Given the description of an element on the screen output the (x, y) to click on. 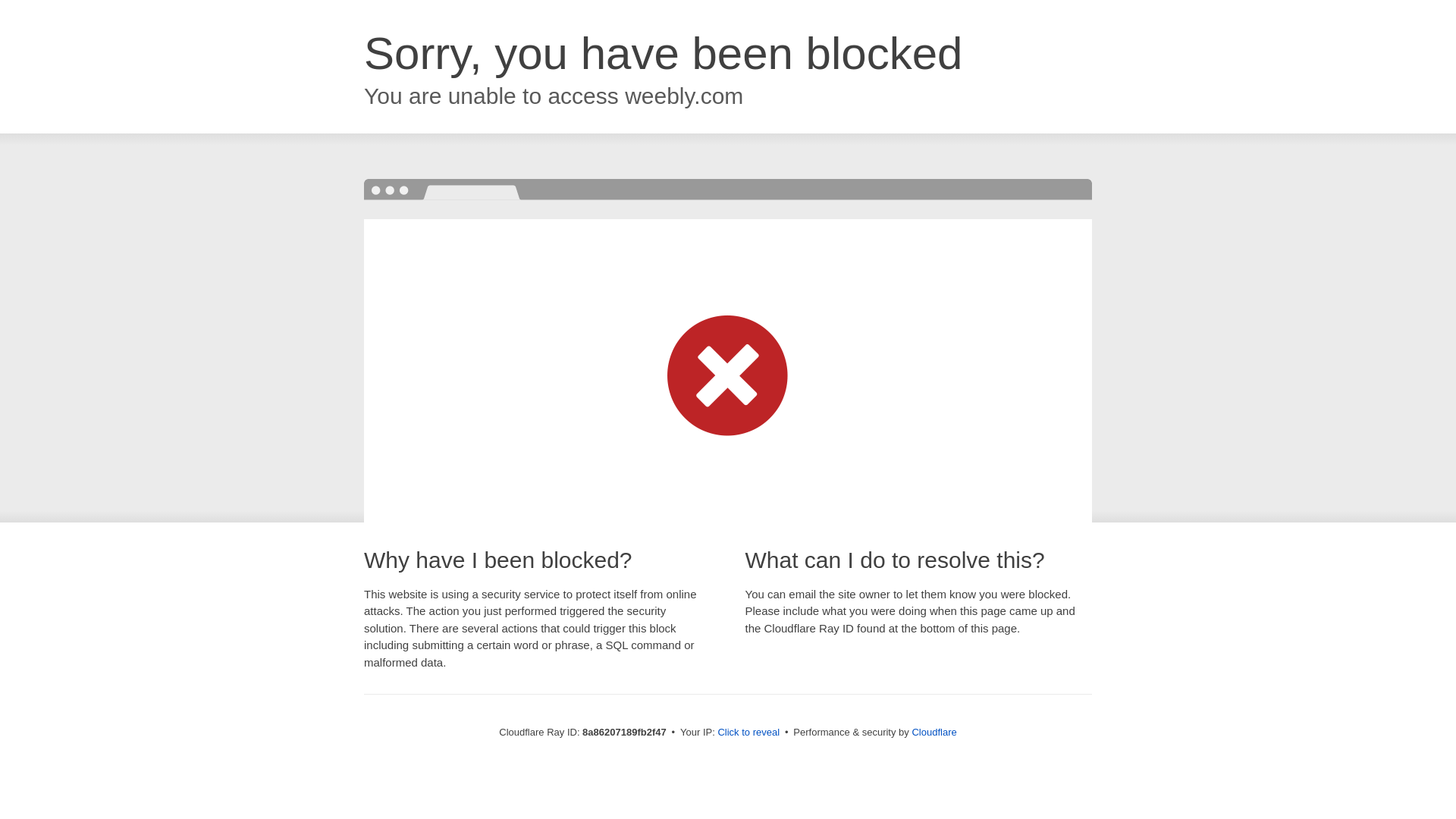
Click to reveal (747, 732)
Cloudflare (933, 731)
